Given the description of an element on the screen output the (x, y) to click on. 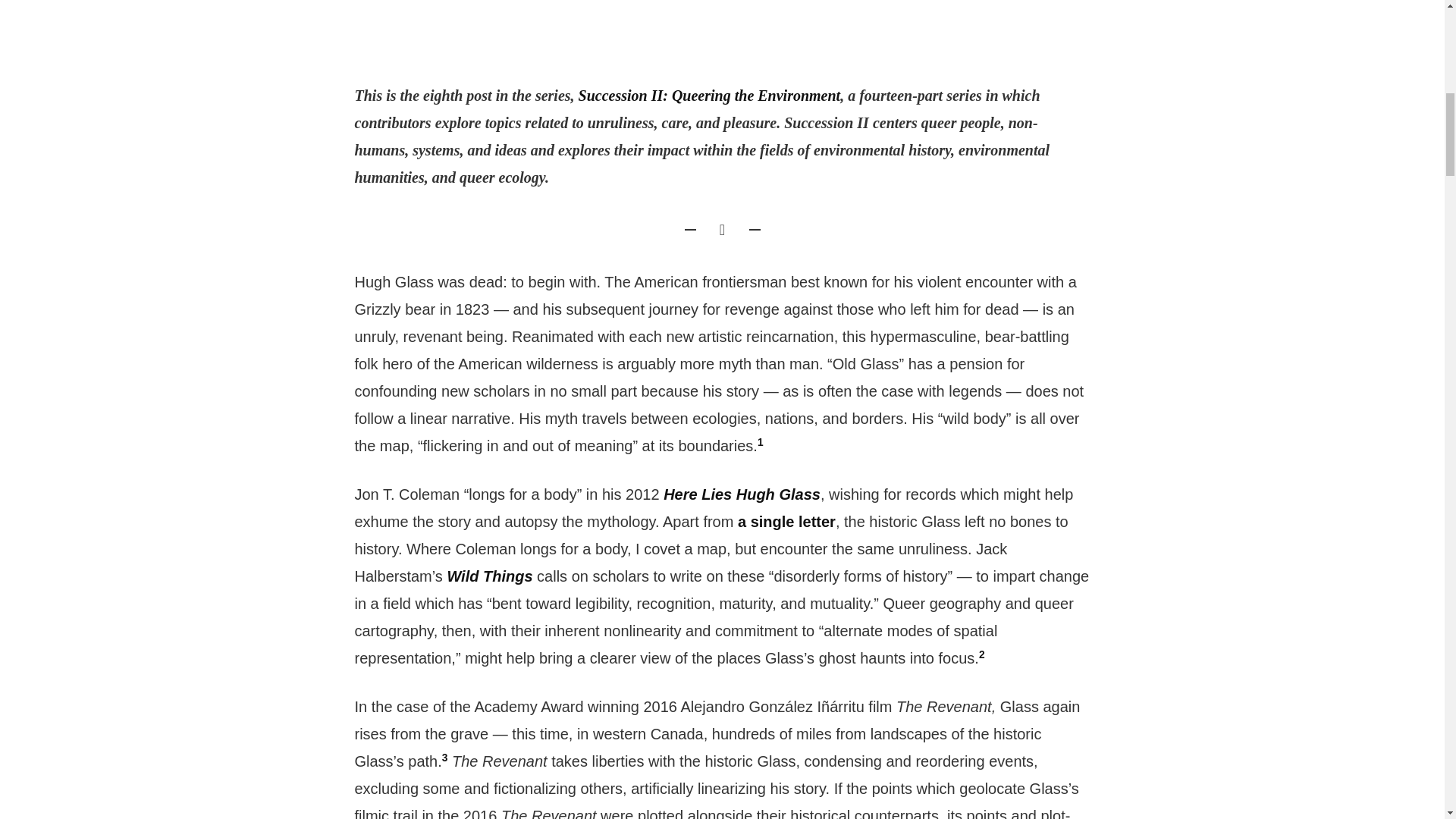
1 (759, 445)
3 (445, 760)
Wild Things (489, 576)
Succession II: Queering the Environment (709, 95)
a single letter (786, 521)
2 (981, 654)
Here Lies Hugh Glass (742, 494)
